Given the description of an element on the screen output the (x, y) to click on. 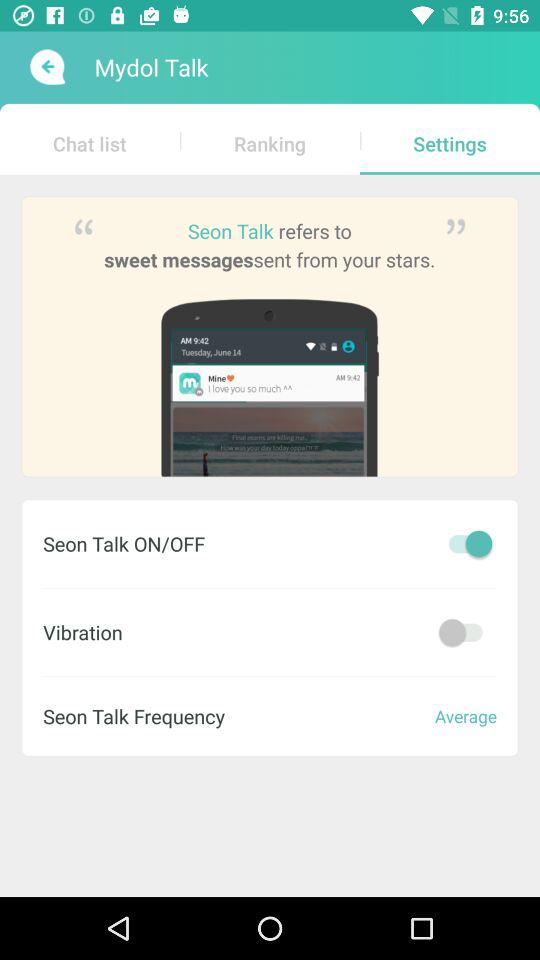
toggle on and off vibration (465, 632)
